Given the description of an element on the screen output the (x, y) to click on. 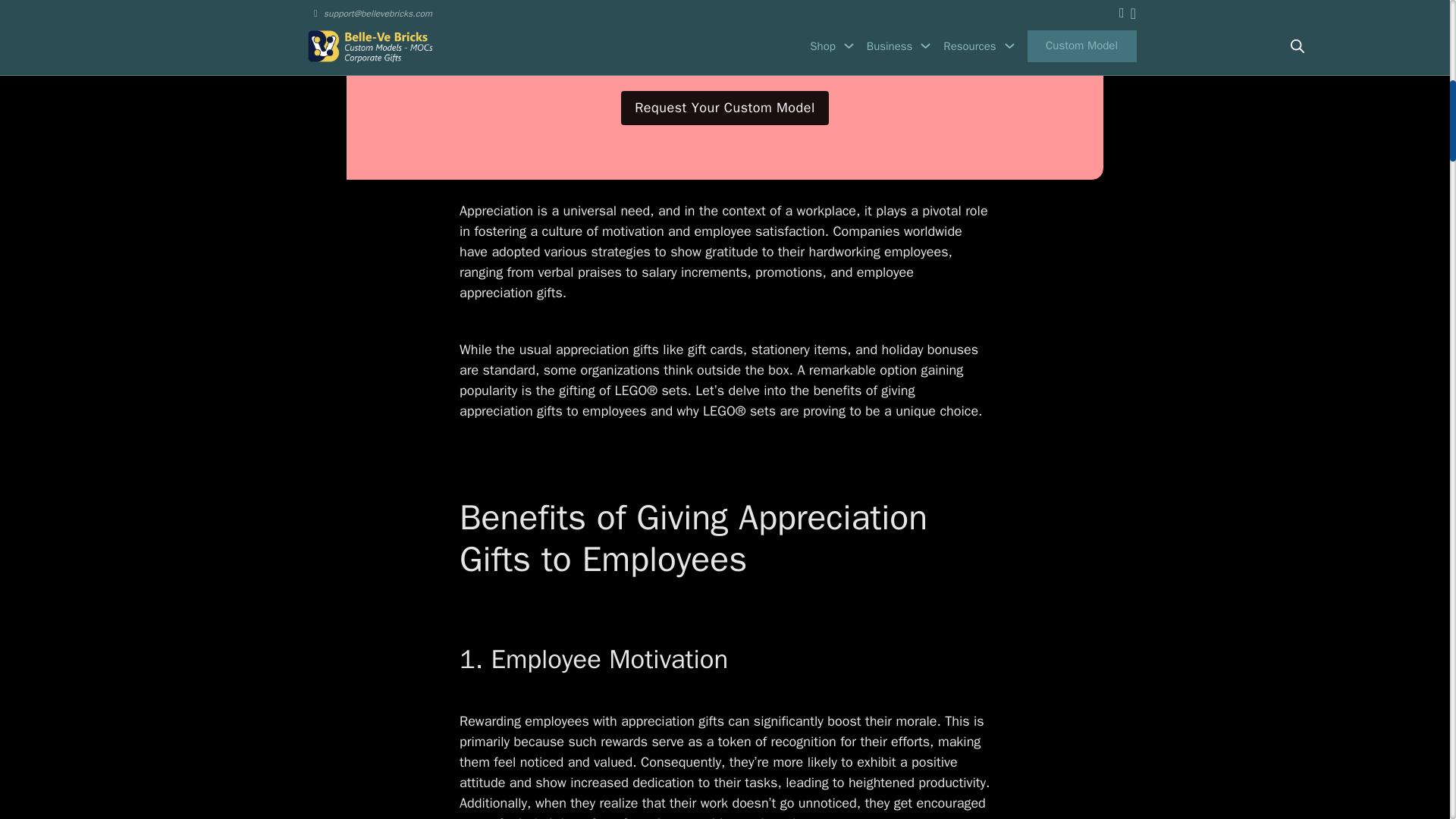
appreciation gifts (607, 349)
Request Your Custom Model (724, 107)
